Given the description of an element on the screen output the (x, y) to click on. 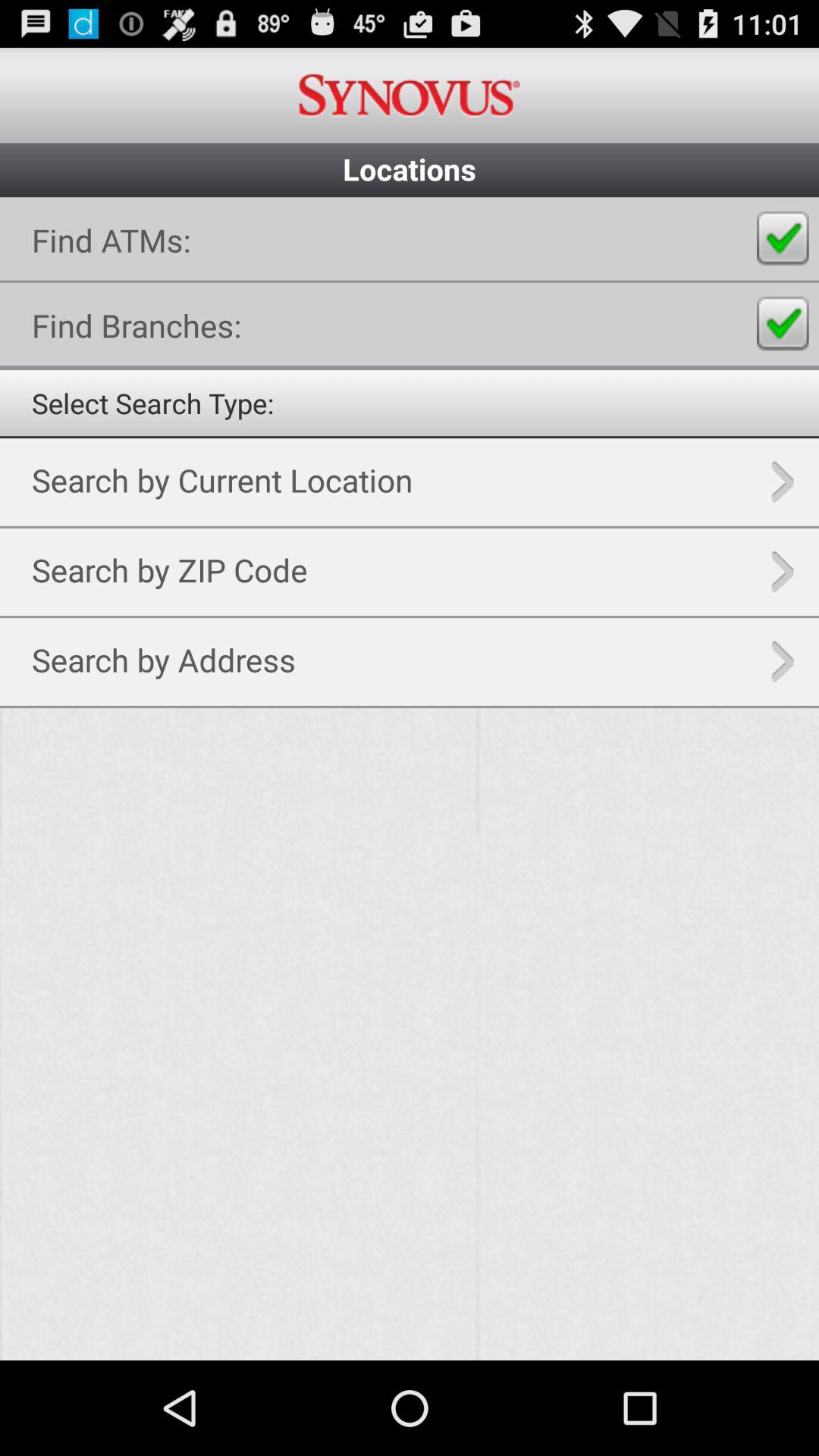
ok (782, 238)
